Given the description of an element on the screen output the (x, y) to click on. 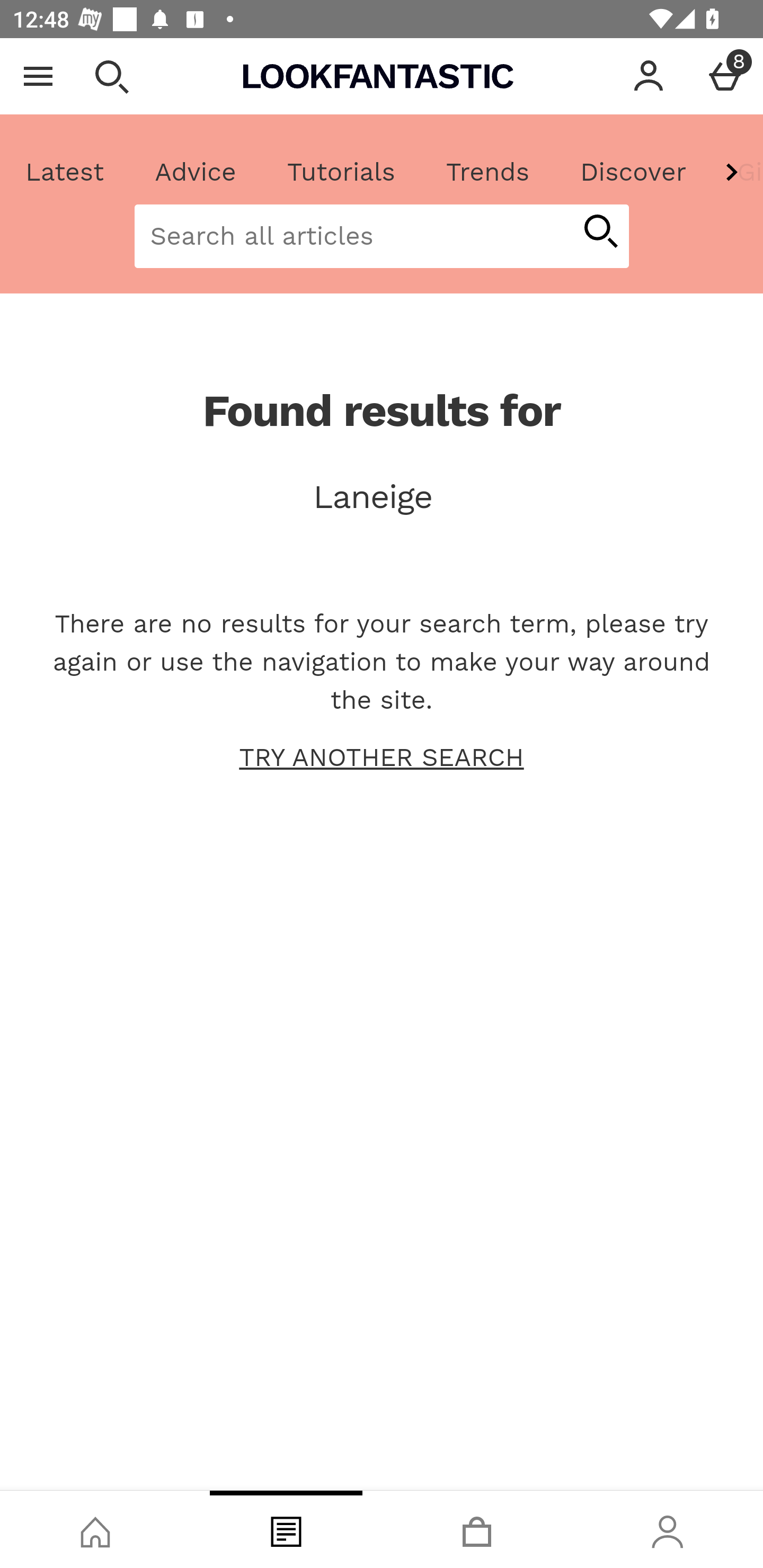
Open Menu (38, 75)
Open search (111, 75)
Account (648, 75)
Basket Menu (724, 75)
Lookfantastic USA Home page (378, 76)
Latest (65, 172)
Advice (195, 172)
Tutorials (340, 172)
Trends (486, 172)
Discover (632, 172)
Gift Guide (736, 172)
start article search (599, 232)
Laneige (381, 496)
TRY ANOTHER SEARCH (381, 757)
Shop, tab, 1 of 4 (95, 1529)
Blog, tab, 2 of 4 (285, 1529)
Basket, tab, 3 of 4 (476, 1529)
Account, tab, 4 of 4 (667, 1529)
